Given the description of an element on the screen output the (x, y) to click on. 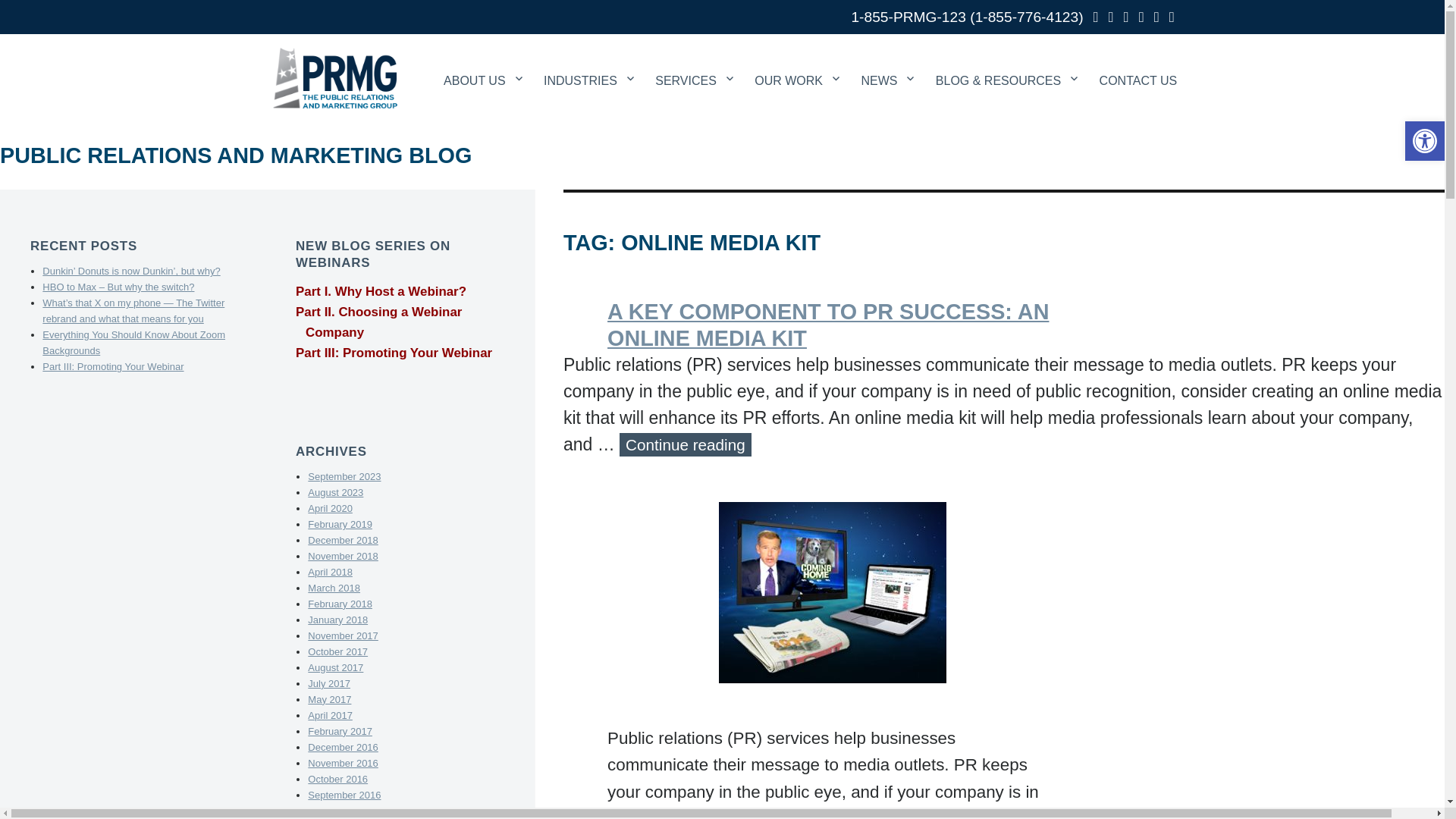
Accessibility Tools (1424, 140)
SERVICES (694, 61)
ABOUT US (482, 61)
INDUSTRIES (588, 61)
Long Island Public Relations and Marketing Company (334, 76)
1-855-PRMG-123 (907, 17)
Accessibility Tools (1424, 140)
1-855-776-4123 (1026, 17)
